Given the description of an element on the screen output the (x, y) to click on. 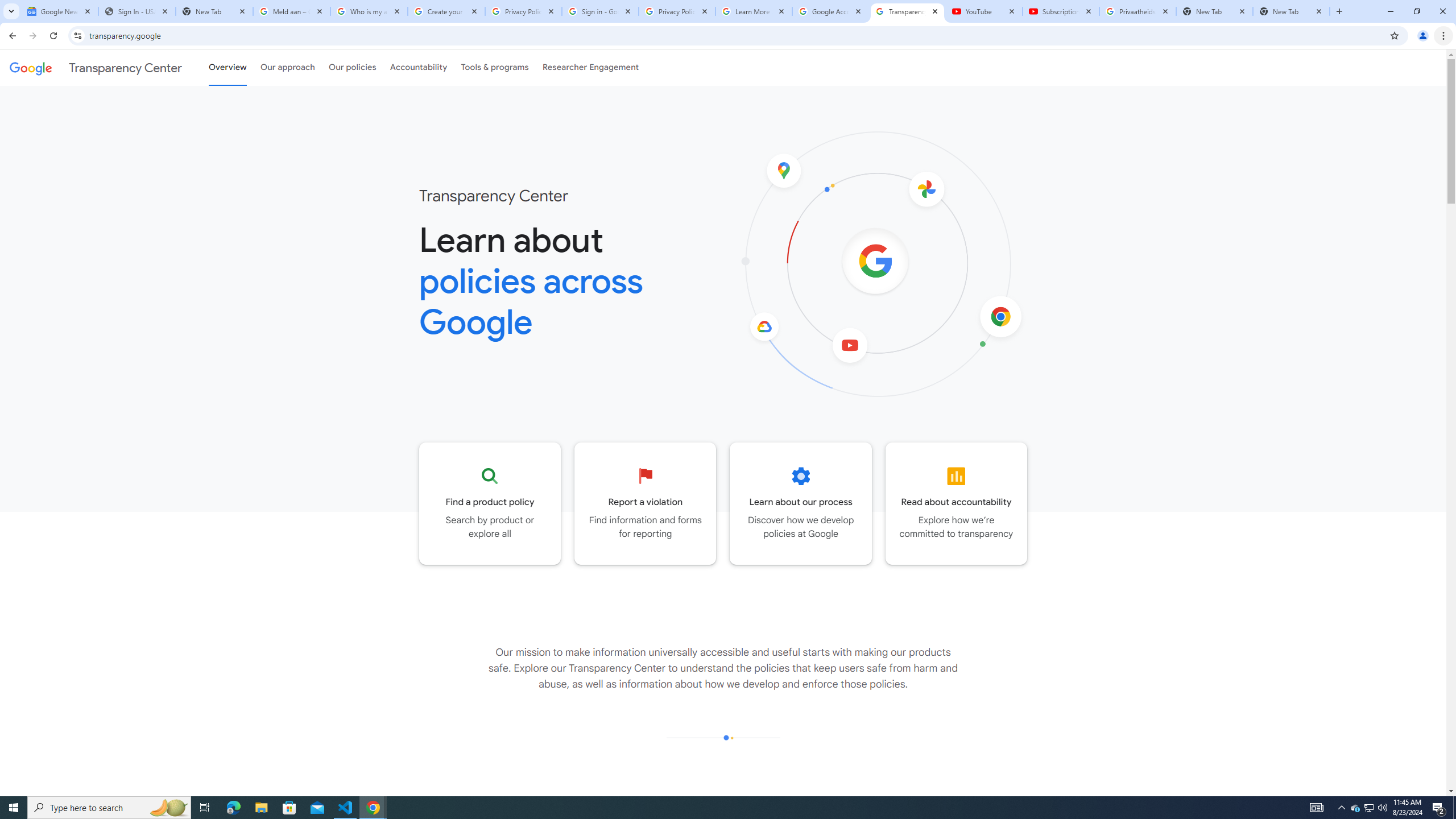
Our policies (351, 67)
Tools & programs (494, 67)
Transparency Center (95, 67)
New Tab (1291, 11)
Who is my administrator? - Google Account Help (368, 11)
Overview (226, 67)
Go to the Product policy page (490, 503)
YouTube (983, 11)
